Given the description of an element on the screen output the (x, y) to click on. 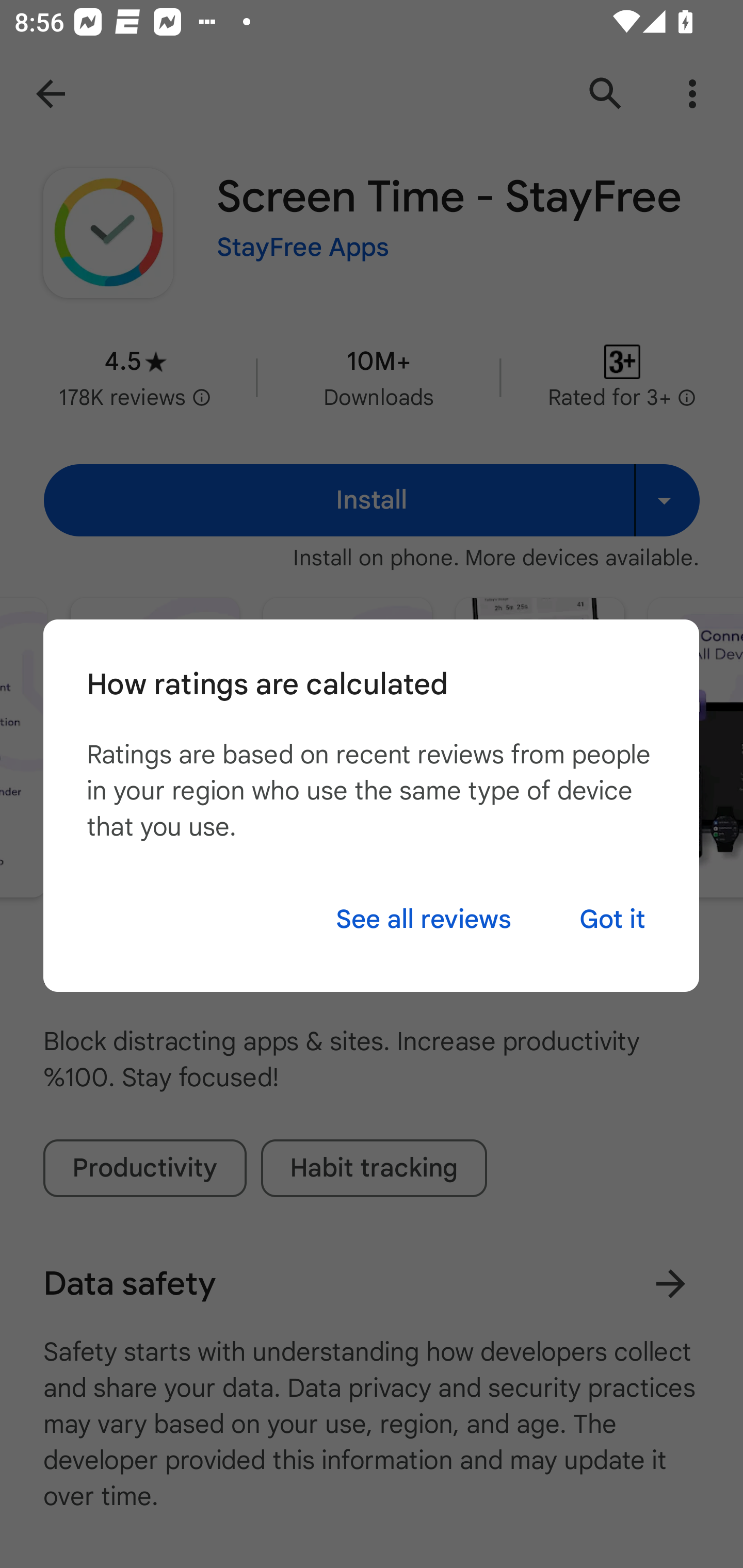
See all reviews (423, 919)
Got it (612, 919)
